Given the description of an element on the screen output the (x, y) to click on. 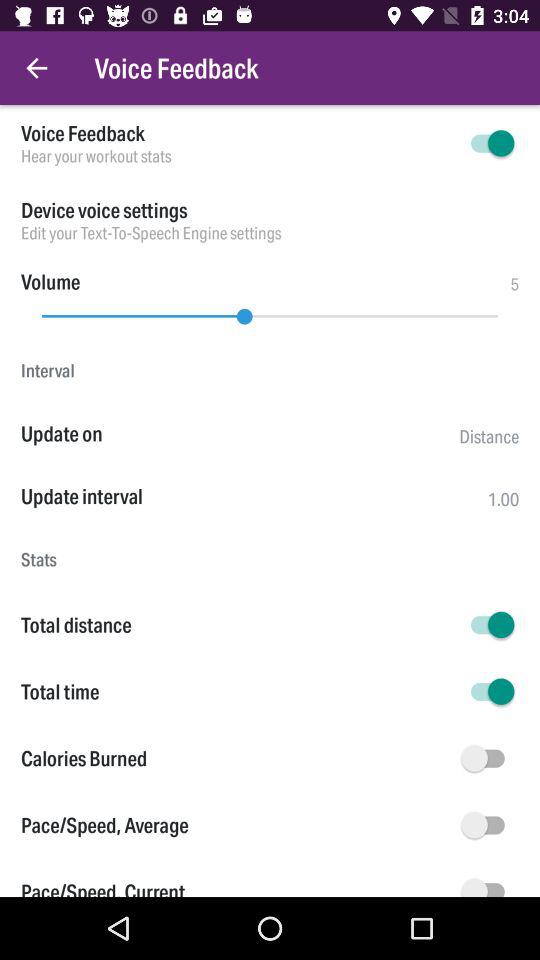
select item next to distance item (240, 433)
